Given the description of an element on the screen output the (x, y) to click on. 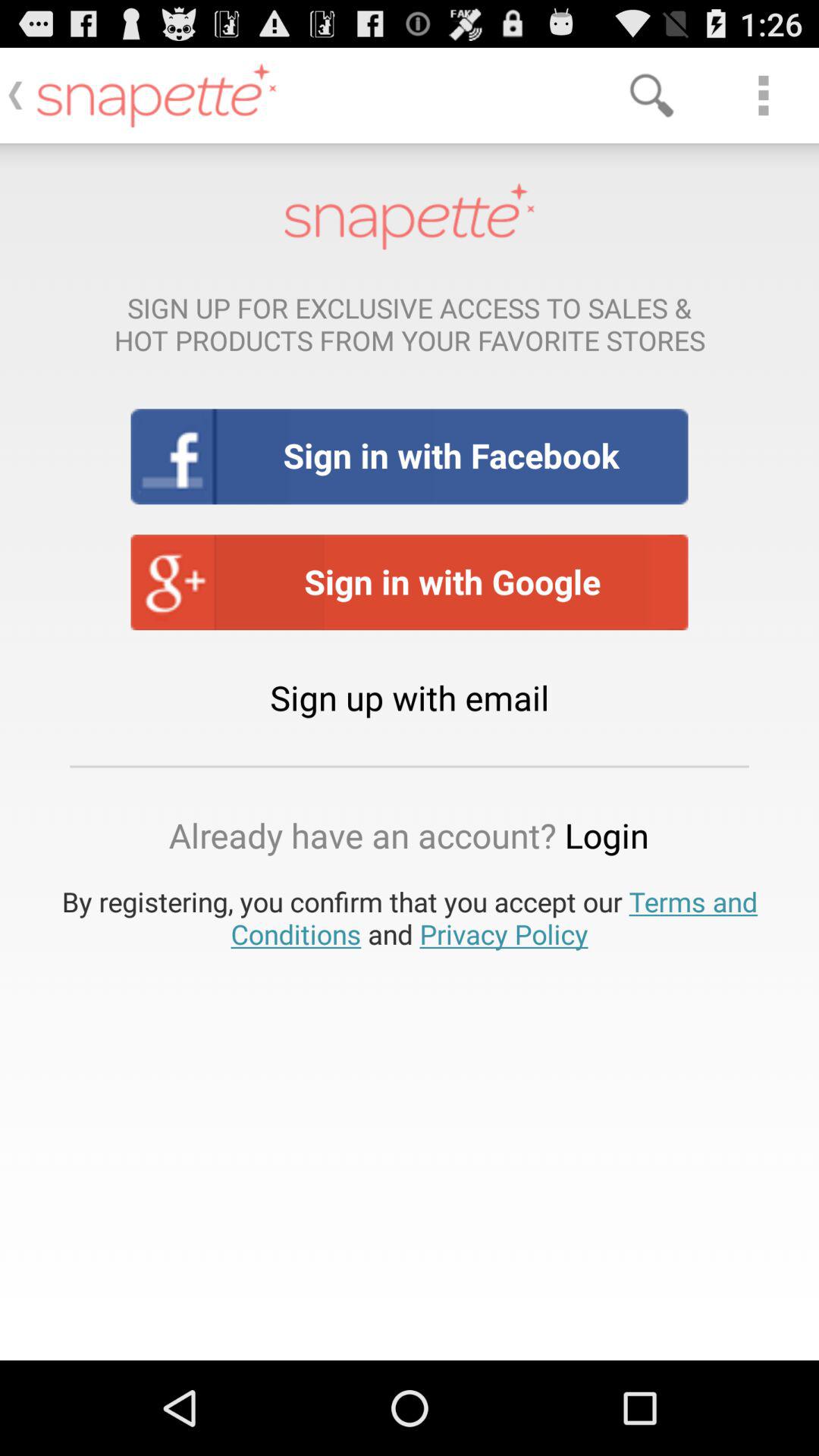
choose already have an (408, 835)
